Given the description of an element on the screen output the (x, y) to click on. 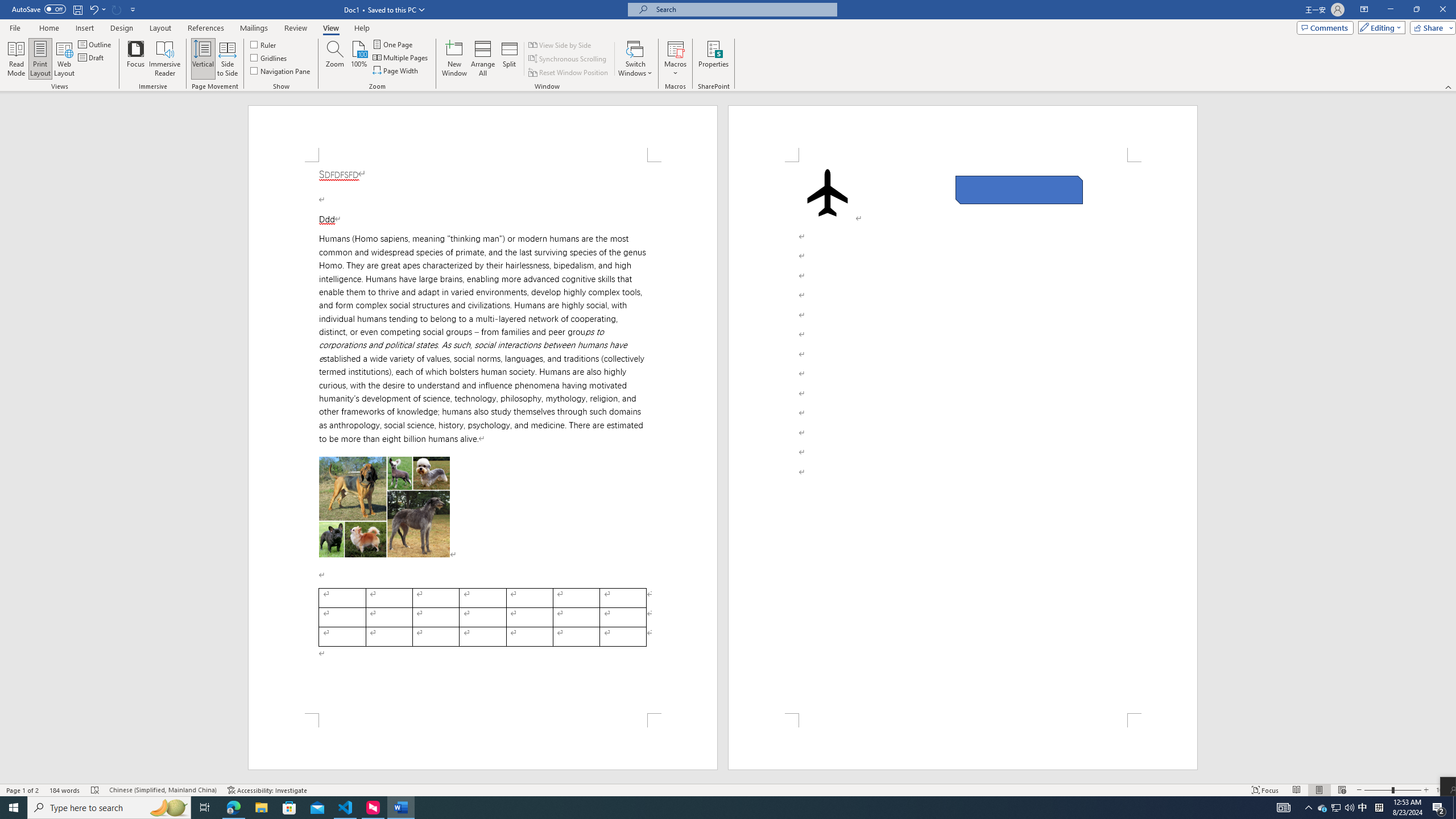
Undo Apply Quick Style Set (92, 9)
Macros (675, 58)
View Macros (675, 48)
Layout (160, 28)
Ribbon Display Options (1364, 9)
Collapse the Ribbon (1448, 86)
Read Mode (16, 58)
More Options (675, 68)
Print Layout (40, 58)
File Tab (15, 27)
Close (1442, 9)
Morphological variation in six dogs (383, 507)
Multiple Pages (400, 56)
Zoom 104% (1443, 790)
Page 2 content (963, 437)
